Given the description of an element on the screen output the (x, y) to click on. 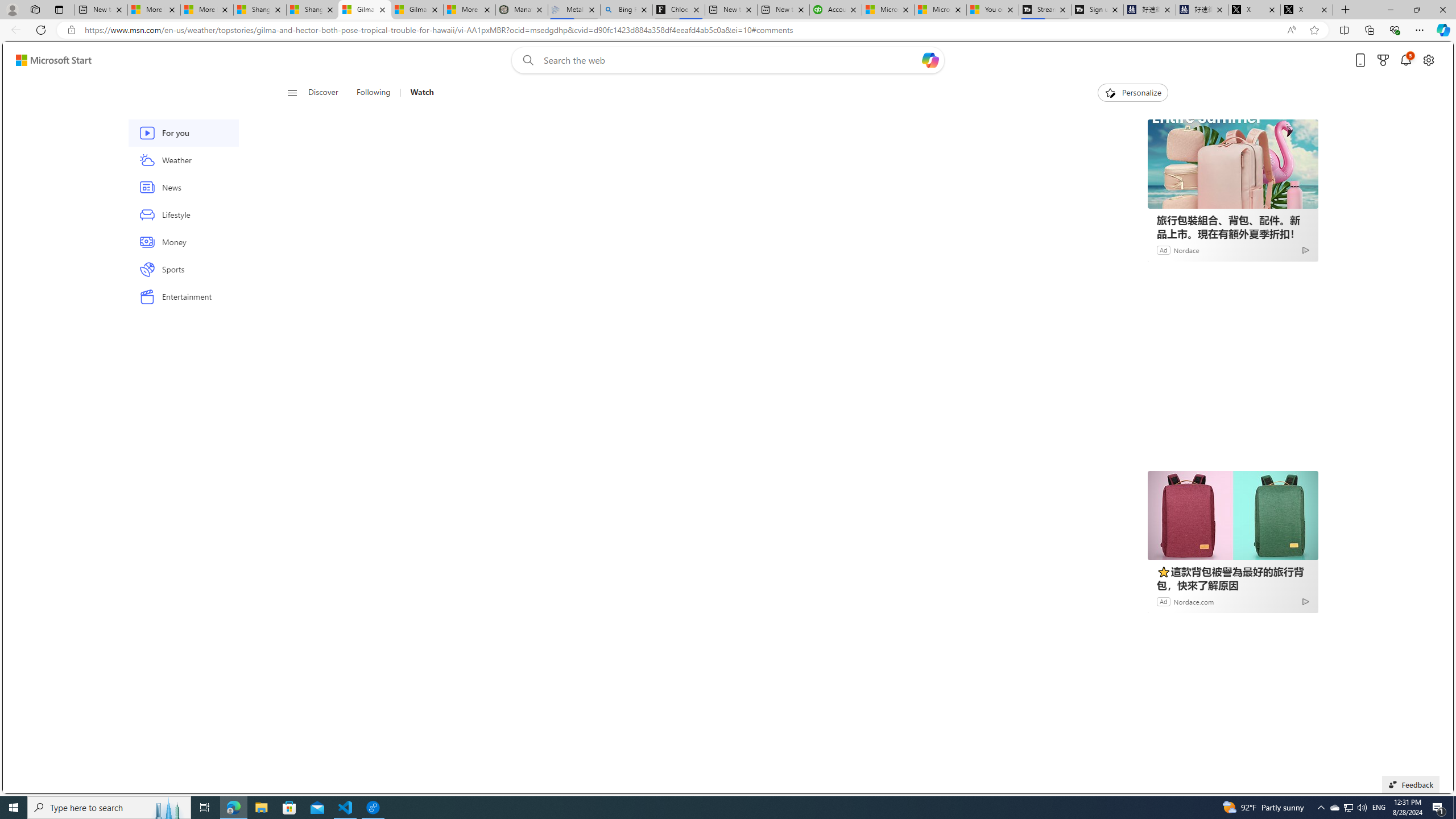
X (1306, 9)
Shanghai, China weather forecast | Microsoft Weather (312, 9)
Notifications (1405, 60)
Web search (526, 60)
Feedback (1410, 784)
Microsoft Start Sports (887, 9)
Open navigation menu (292, 92)
Ad (1162, 601)
Watch (416, 92)
Ad Choice (1305, 601)
